Given the description of an element on the screen output the (x, y) to click on. 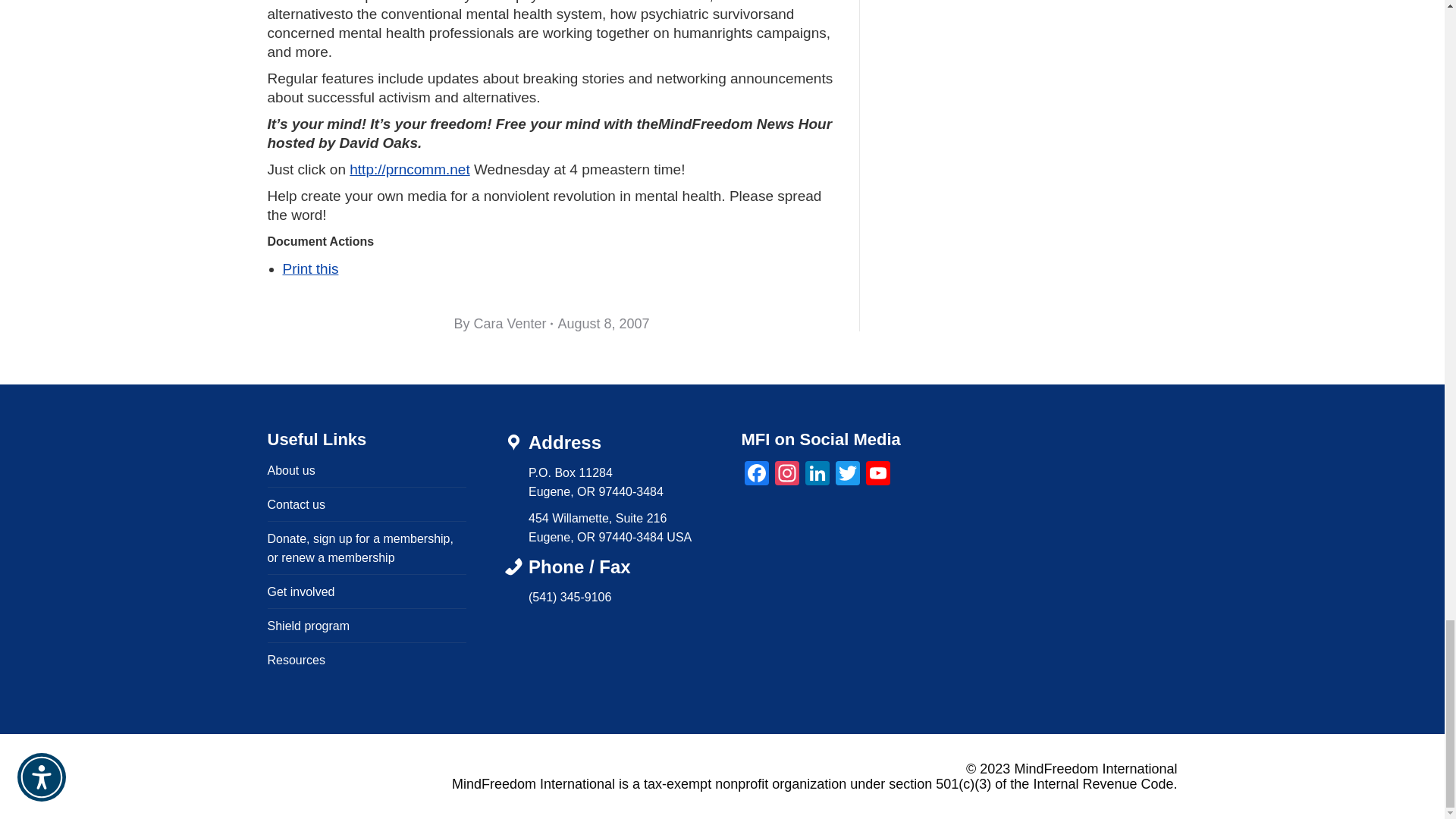
7:32 pm (603, 323)
View all posts by Cara Venter (502, 323)
